Given the description of an element on the screen output the (x, y) to click on. 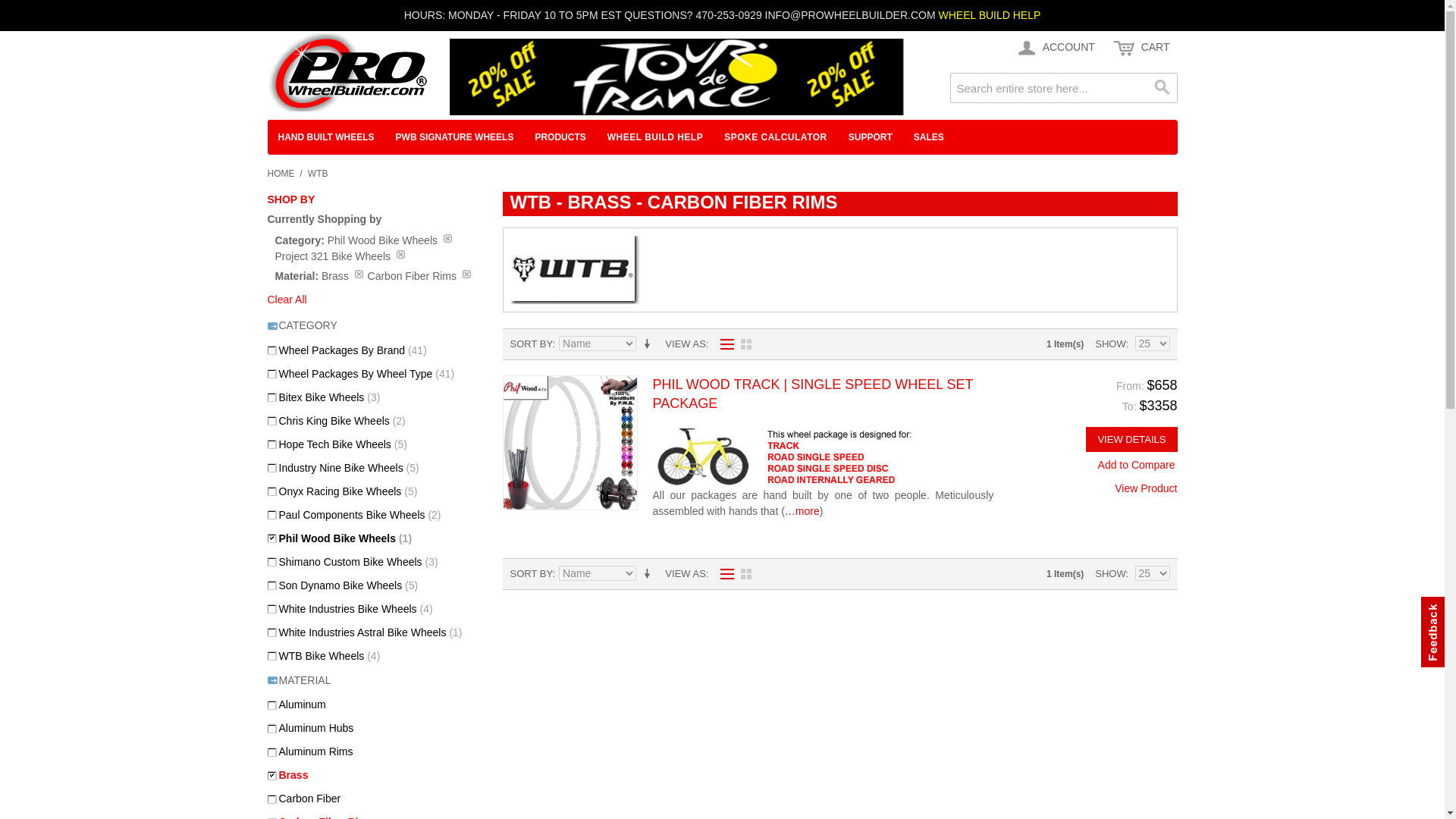
Sort By (597, 343)
Search (1161, 87)
Set Ascending Direction (650, 343)
PWB SIGNATURE WHEELS (454, 136)
WHEEL BUILD HELP (989, 15)
WTB - Brass - Carbon Fiber Rims (575, 269)
View Details (1131, 439)
Grid (746, 343)
ACCOUNT (1054, 47)
PRODUCTS (559, 136)
CART (1141, 47)
List (723, 343)
Go to Home Page (280, 173)
HAND BUILT WHEELS (325, 136)
Build Advice (989, 15)
